Given the description of an element on the screen output the (x, y) to click on. 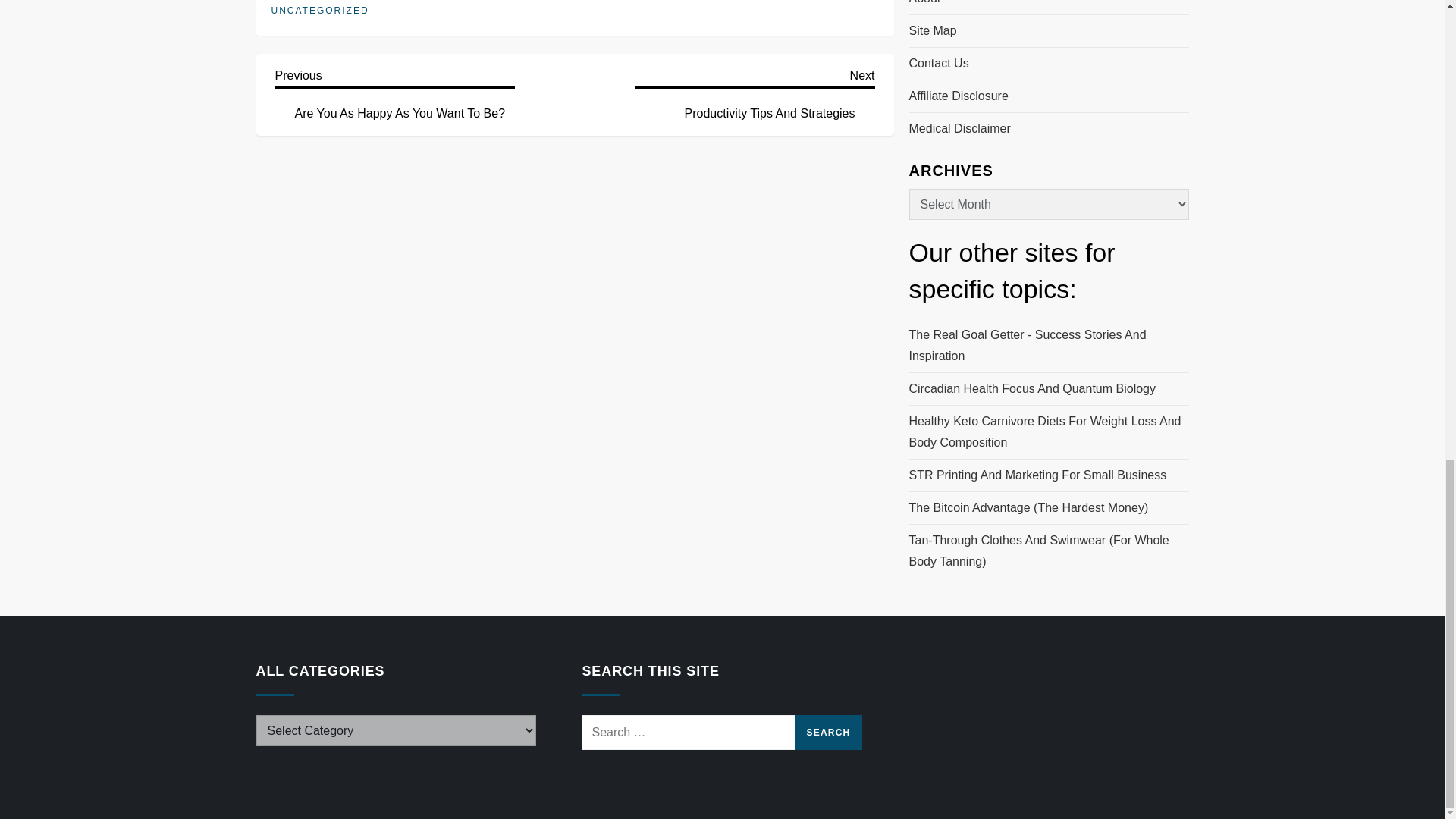
Search (828, 732)
Search (828, 732)
UNCATEGORIZED (754, 92)
